Given the description of an element on the screen output the (x, y) to click on. 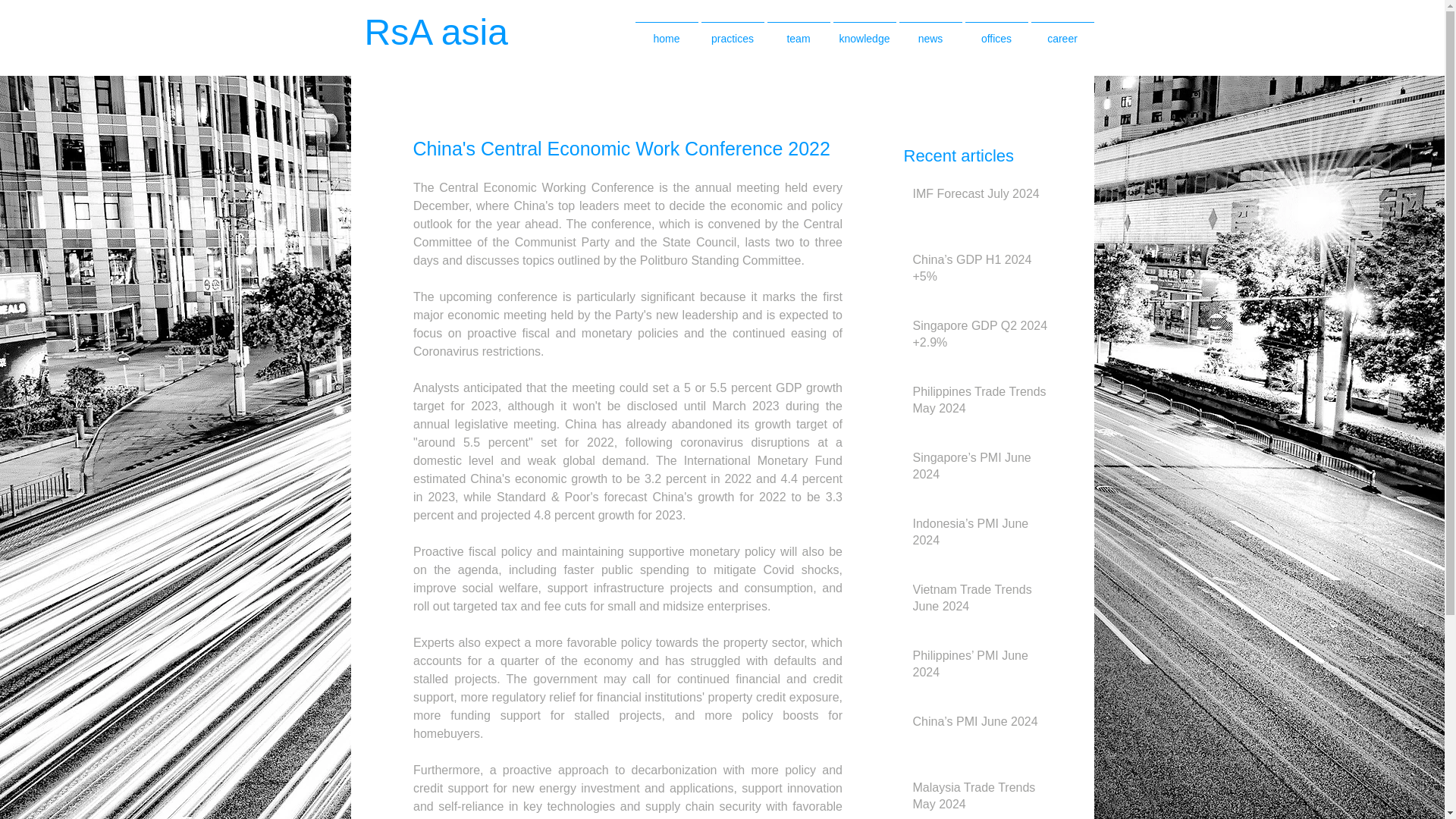
Vietnam Trade Trends June 2024 (981, 601)
RsA asia (452, 31)
offices (995, 31)
home (666, 31)
team (798, 31)
practices (731, 31)
IMF Forecast July 2024 (981, 196)
news (930, 31)
knowledge (863, 31)
career (1062, 31)
Malaysia Trade Trends May 2024 (981, 799)
Philippines Trade Trends May 2024 (981, 404)
